Given the description of an element on the screen output the (x, y) to click on. 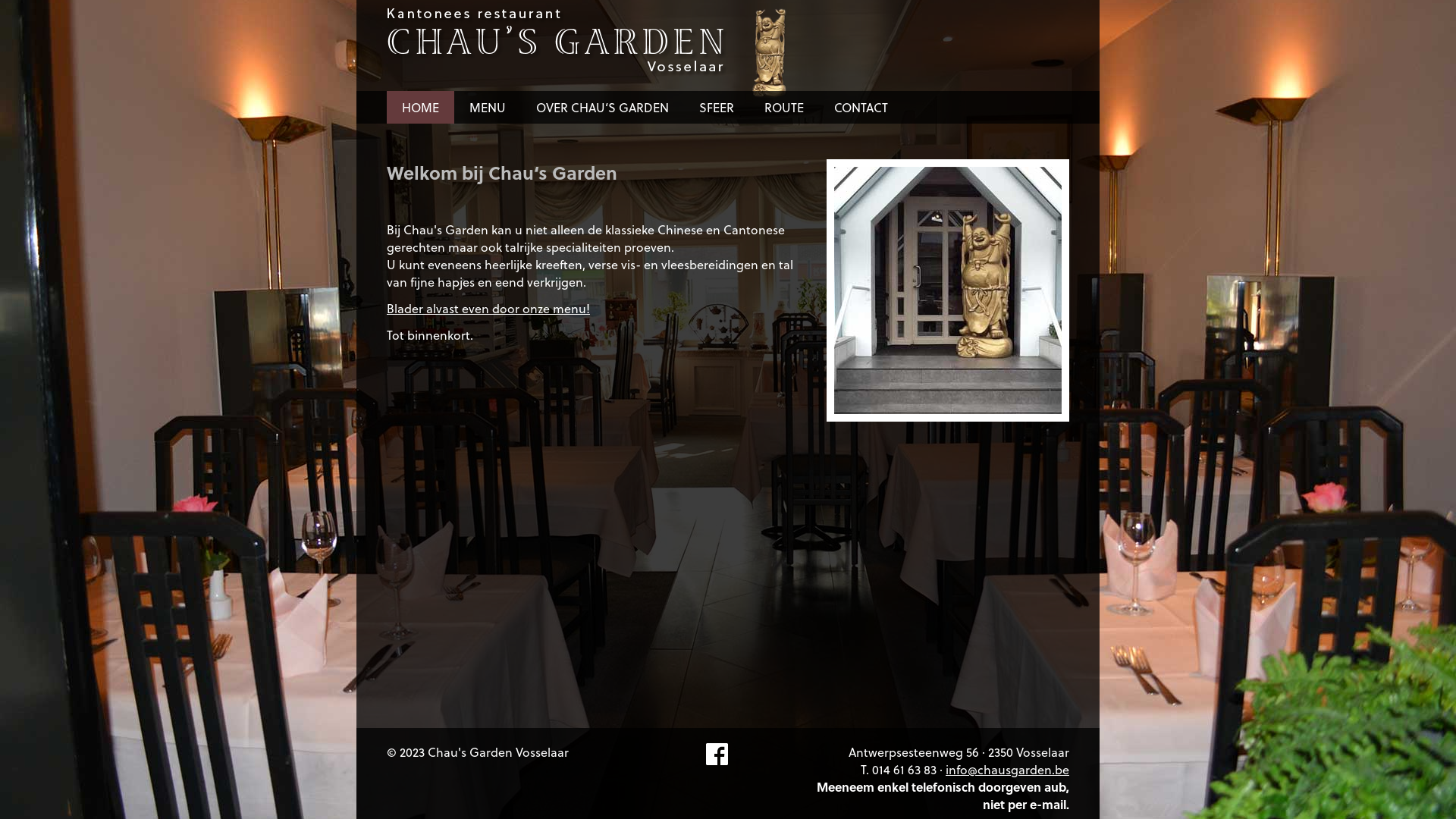
MENU Element type: text (487, 107)
info@chausgarden.be Element type: text (1007, 769)
CONTACT Element type: text (861, 107)
ROUTE Element type: text (784, 107)
HOME Element type: text (420, 107)
Blader alvast even door onze menu! Element type: text (487, 307)
SFEER Element type: text (716, 107)
